Given the description of an element on the screen output the (x, y) to click on. 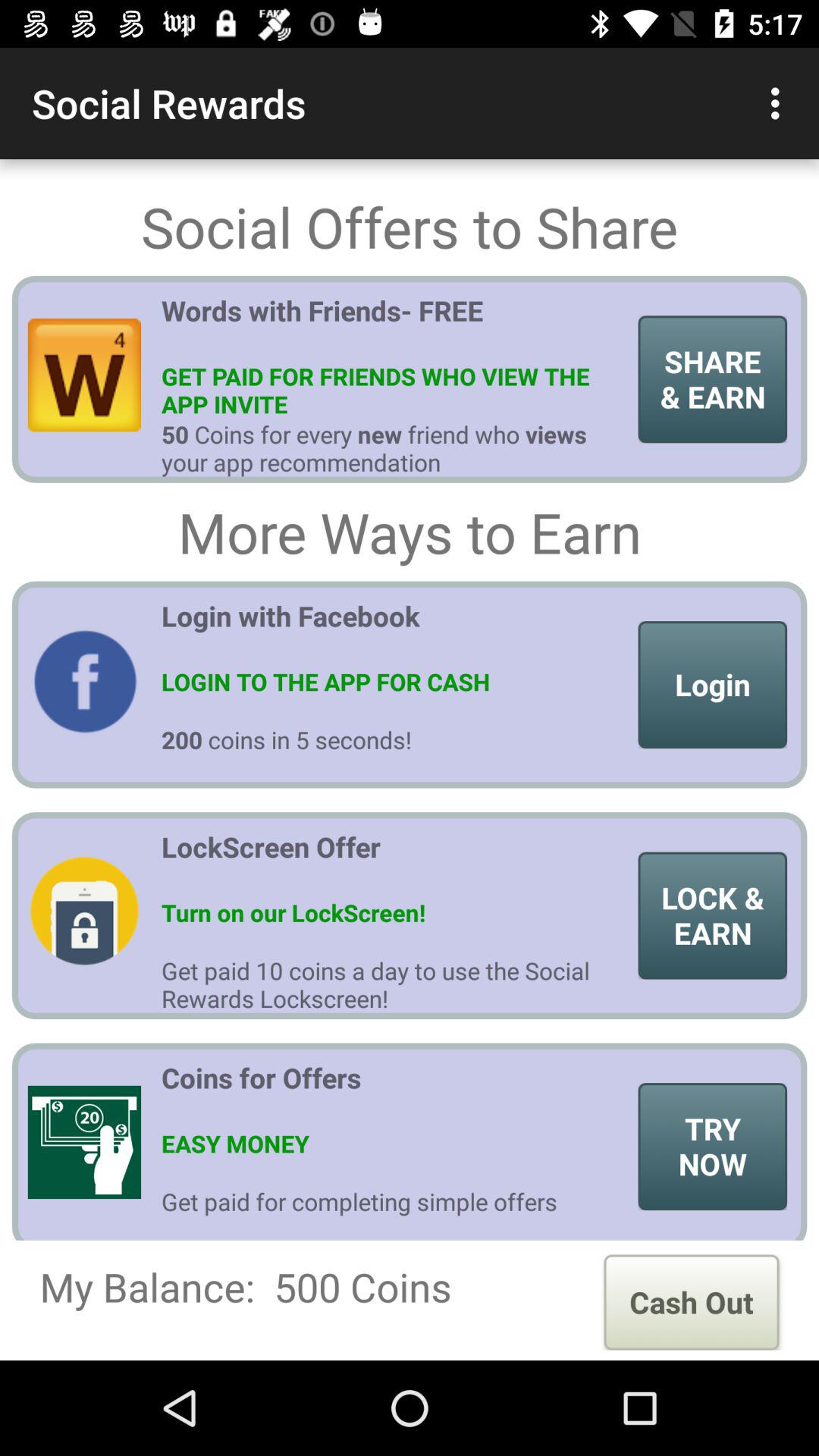
open item to the right of 500 coins (691, 1302)
